Given the description of an element on the screen output the (x, y) to click on. 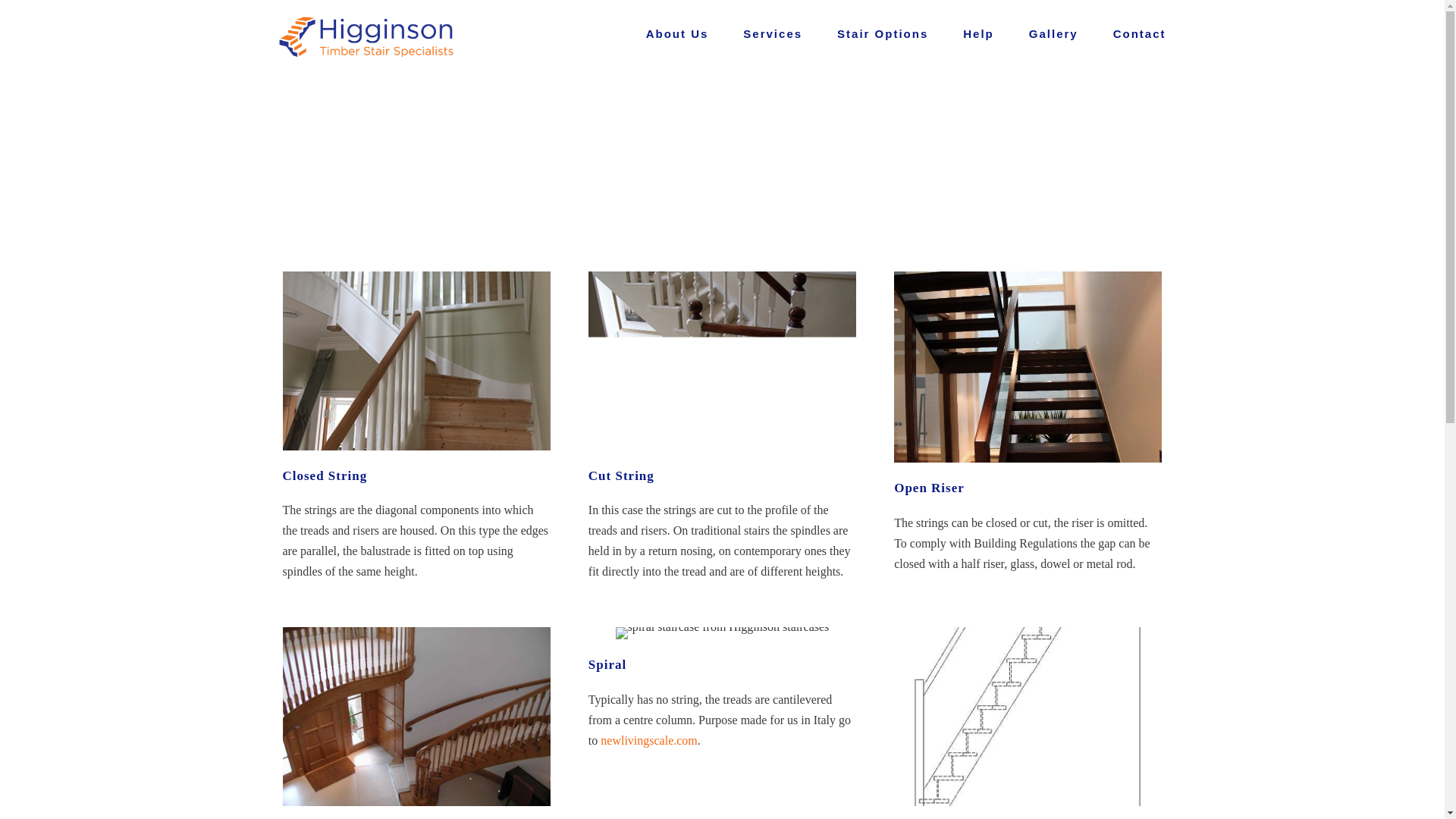
alternating-tread (1027, 716)
About Us (677, 37)
Services (772, 37)
Gallery (1053, 37)
open-riser (1027, 366)
geometrical (416, 716)
Stair Options (882, 37)
spiral (722, 633)
closed string 360 (416, 360)
cut string 360 (722, 360)
